Given the description of an element on the screen output the (x, y) to click on. 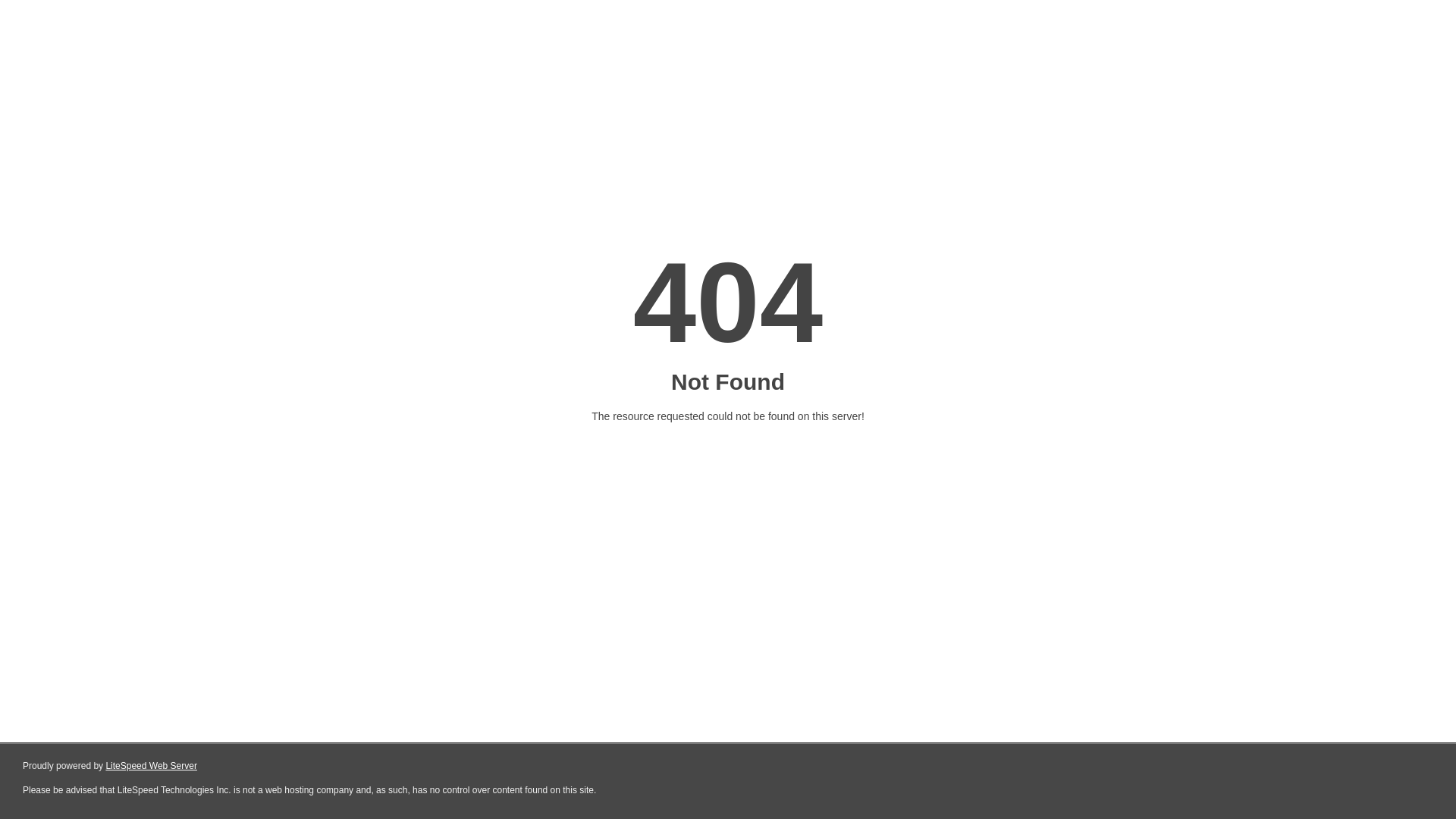
LiteSpeed Web Server Element type: text (151, 765)
